Given the description of an element on the screen output the (x, y) to click on. 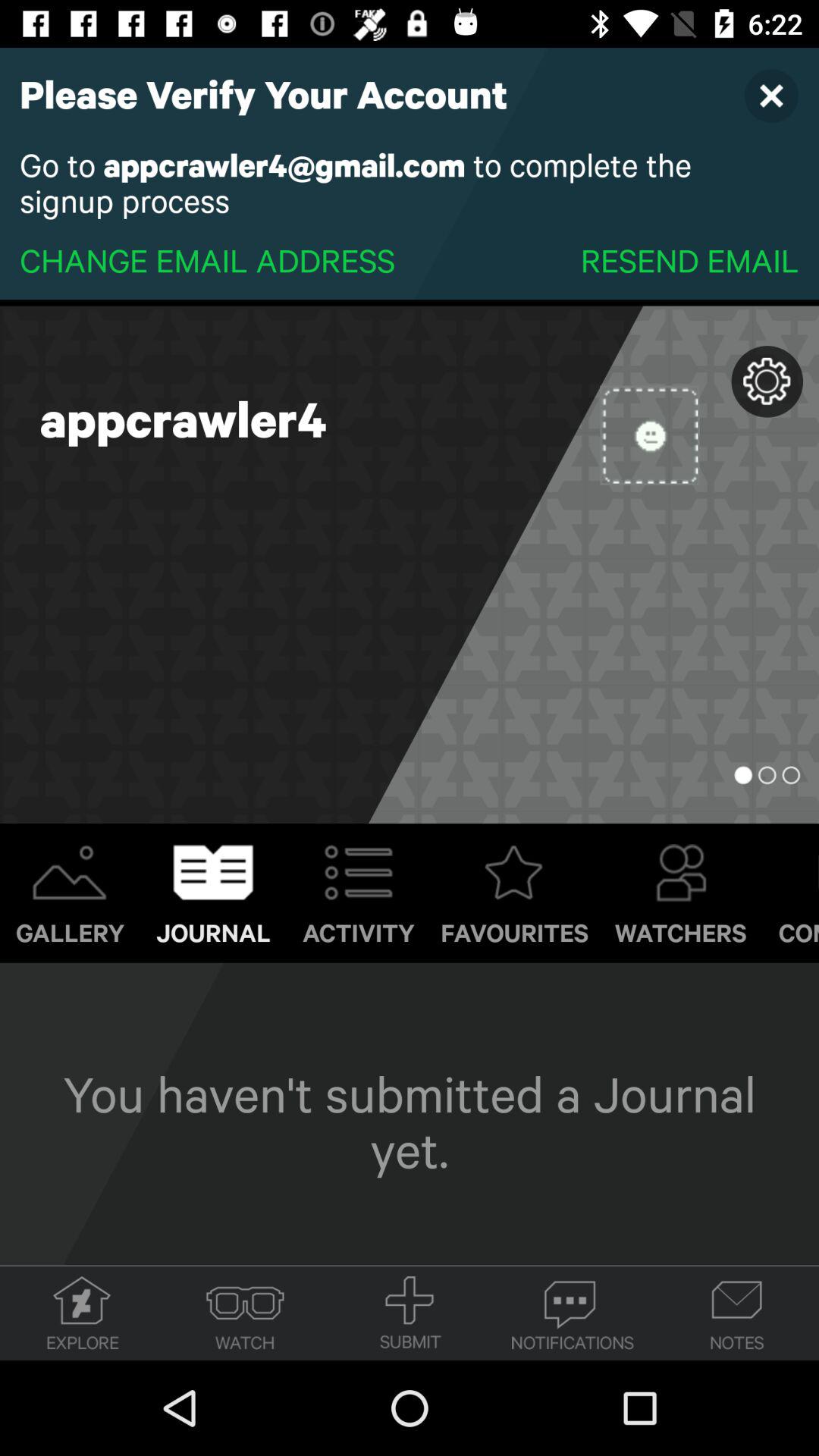
launch item to the right of the please verify your icon (771, 95)
